Given the description of an element on the screen output the (x, y) to click on. 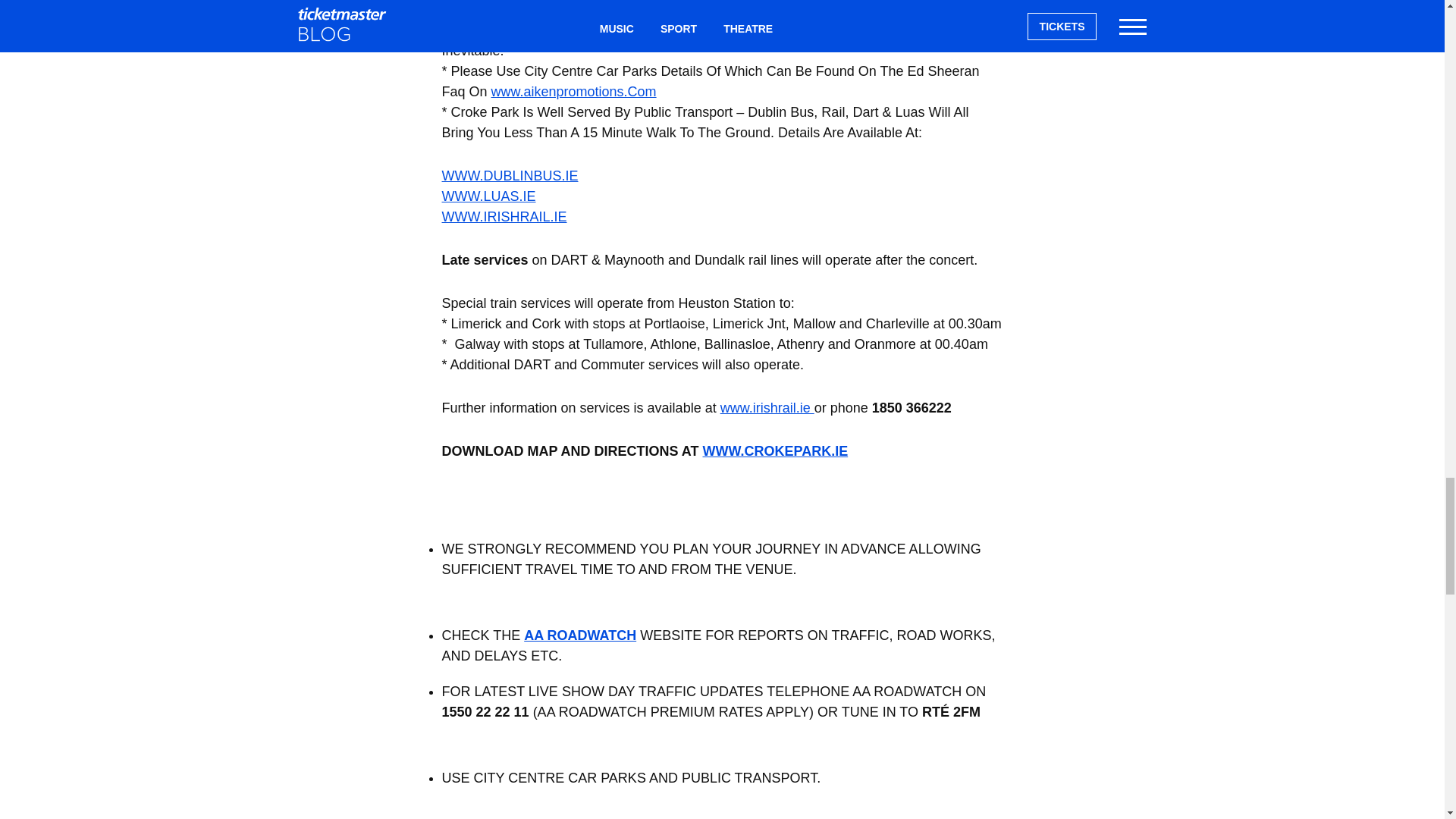
WWW.LUAS.IE (488, 196)
WWW.CROKEPARK.IE (774, 450)
WWW.IRISHRAIL.IE (503, 216)
AA ROADWATCH (580, 635)
WWW.DUBLINBUS.IE (509, 175)
www.irishrail.ie (766, 407)
www.aikenpromotions.Com (574, 91)
